Given the description of an element on the screen output the (x, y) to click on. 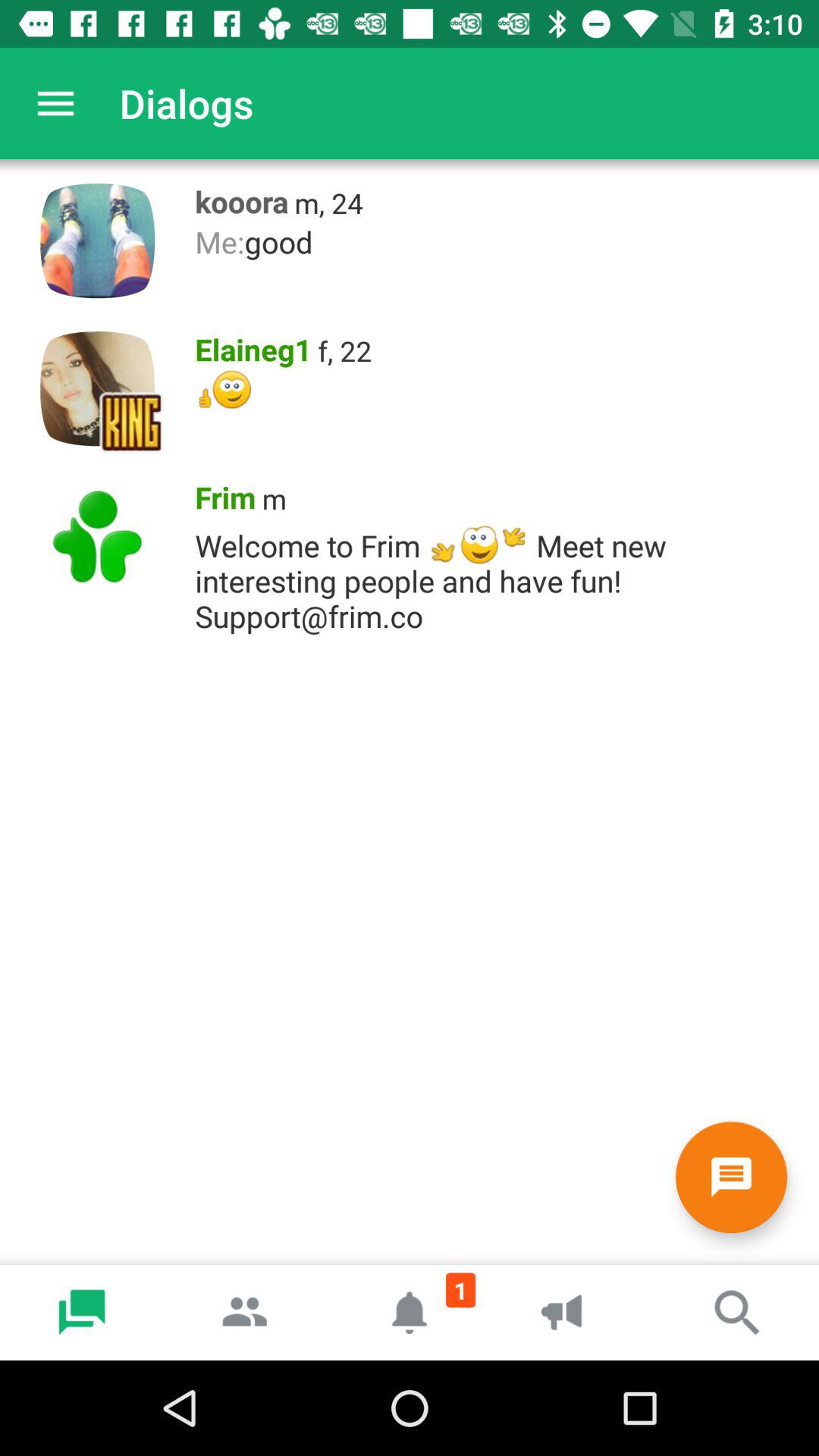
turn off the item to the right of the kooora icon (328, 202)
